Given the description of an element on the screen output the (x, y) to click on. 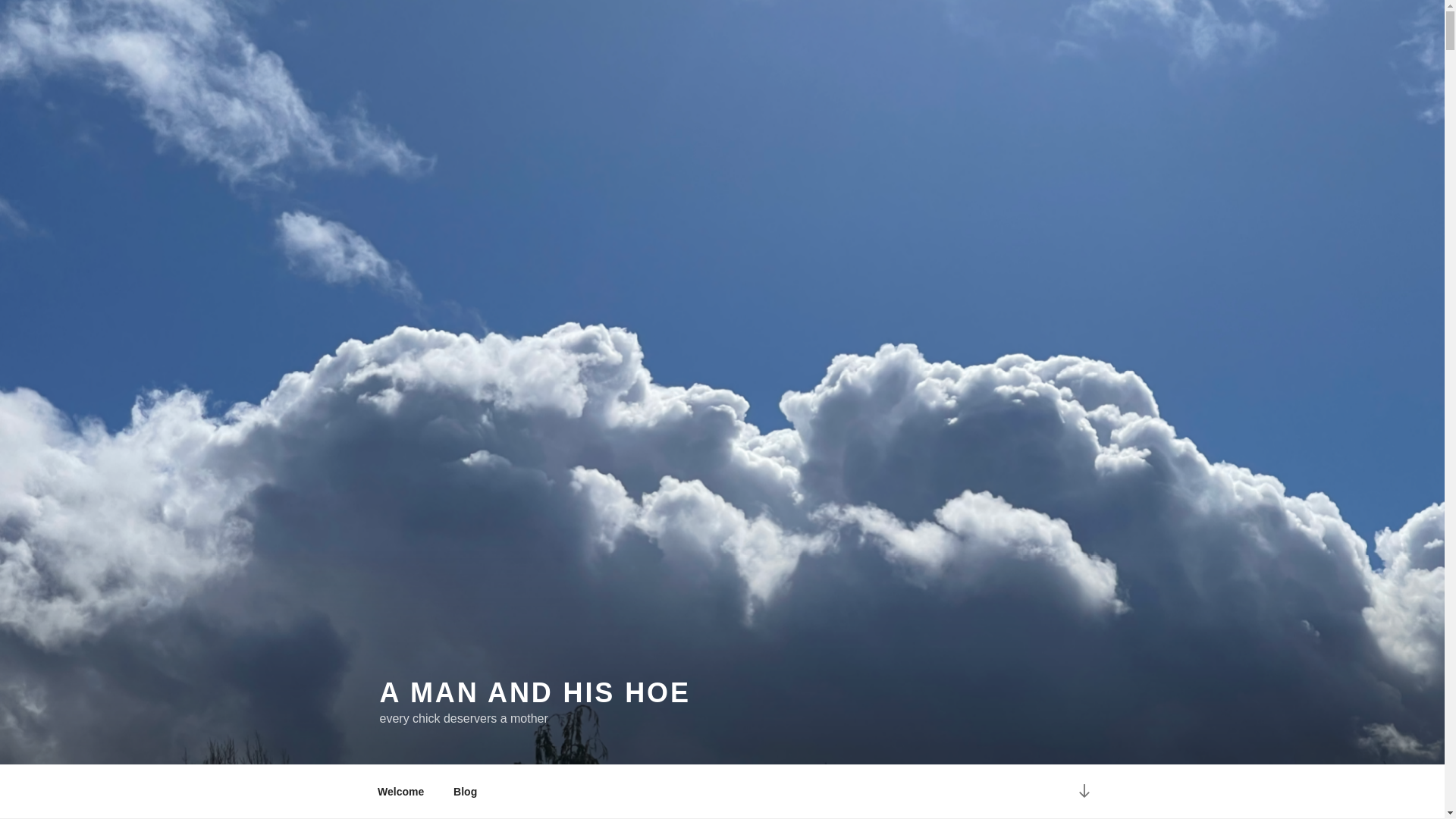
Welcome (400, 791)
Scroll down to content (1082, 791)
Scroll down to content (1082, 791)
A MAN AND HIS HOE (534, 692)
Blog (465, 791)
